Given the description of an element on the screen output the (x, y) to click on. 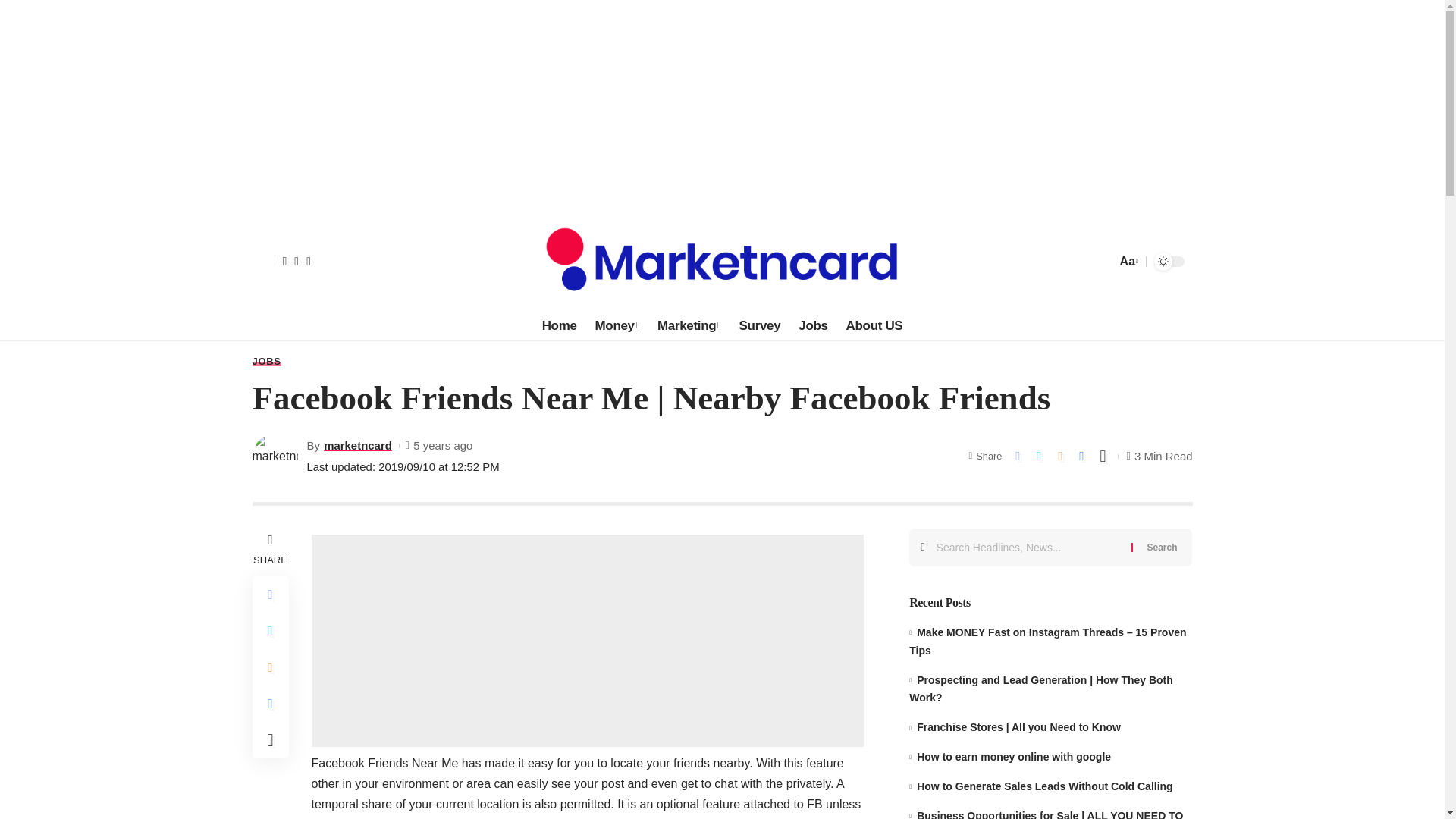
Money (616, 326)
Survey (760, 326)
Advertisement (587, 640)
About US (874, 326)
Marketing (688, 326)
Jobs (812, 326)
Aa (1127, 260)
Search (1161, 547)
Marketncard (721, 261)
Home (559, 326)
